Given the description of an element on the screen output the (x, y) to click on. 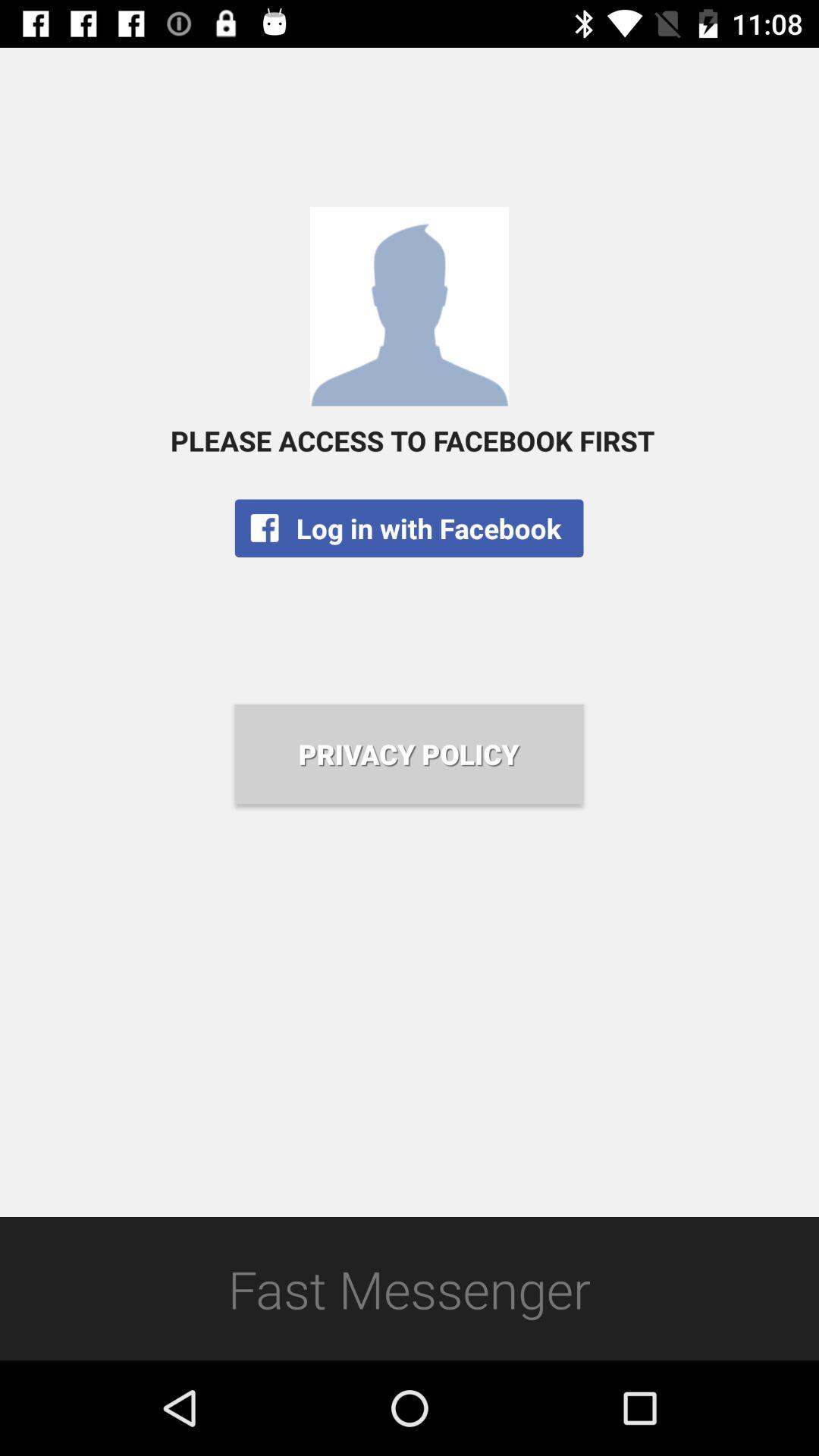
launch privacy policy item (408, 754)
